Given the description of an element on the screen output the (x, y) to click on. 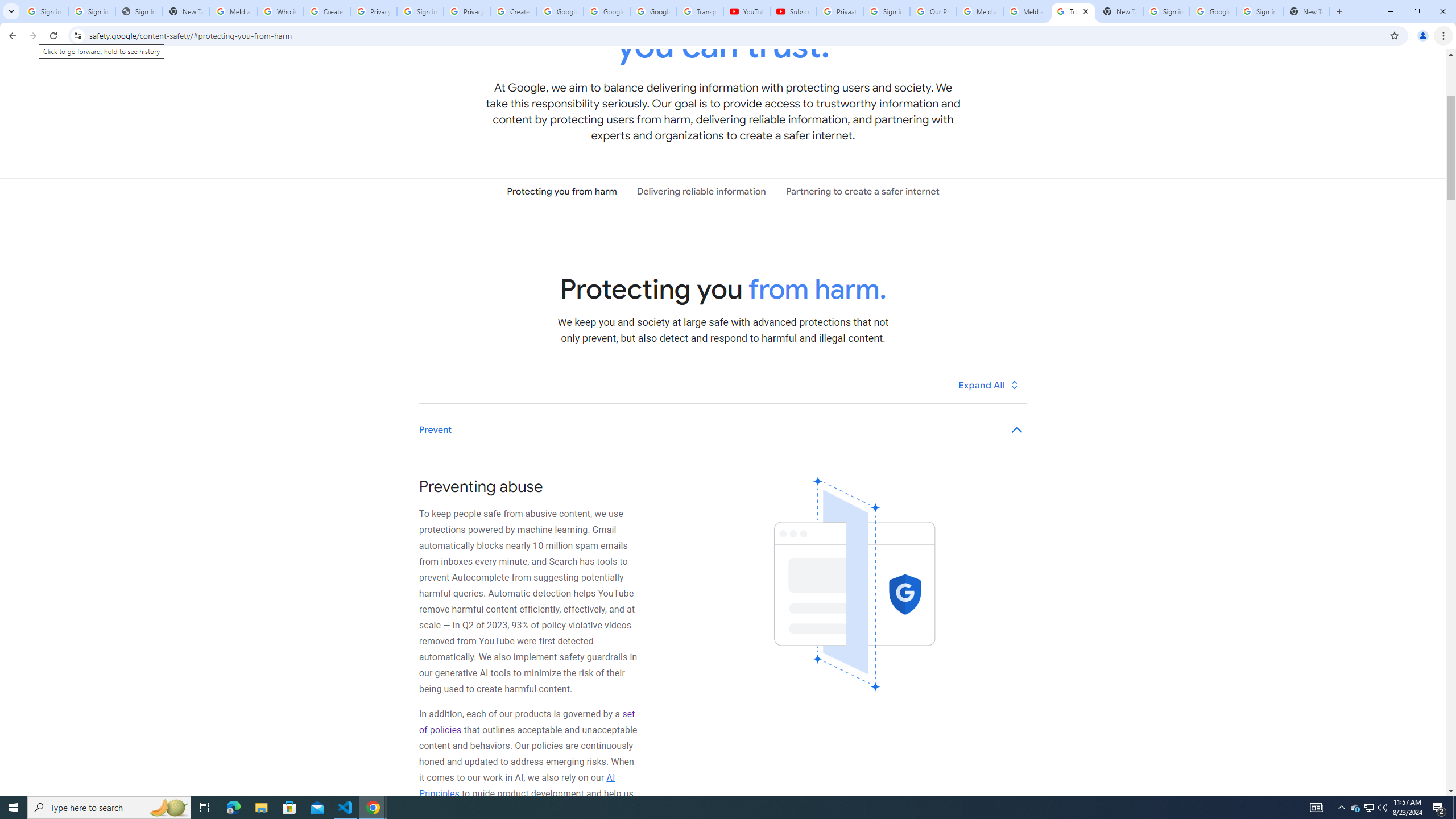
Expand All (988, 384)
Sign in - Google Accounts (419, 11)
AI Principles (517, 785)
Delivering reliable information (700, 191)
Trusted Information and Content - Google Safety Center (1073, 11)
Sign in - Google Accounts (91, 11)
